Given the description of an element on the screen output the (x, y) to click on. 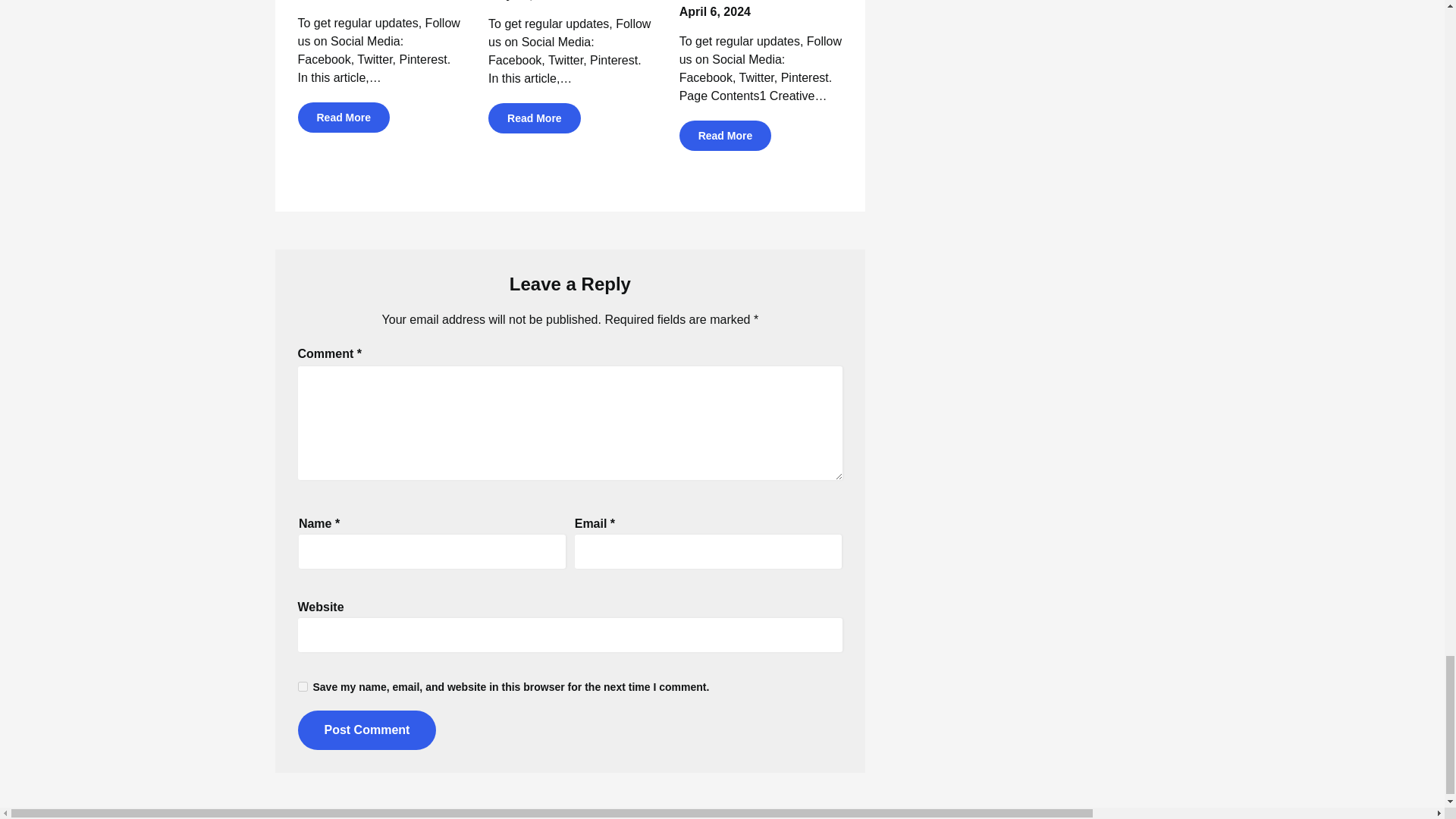
yes (302, 686)
Post Comment (366, 730)
